Given the description of an element on the screen output the (x, y) to click on. 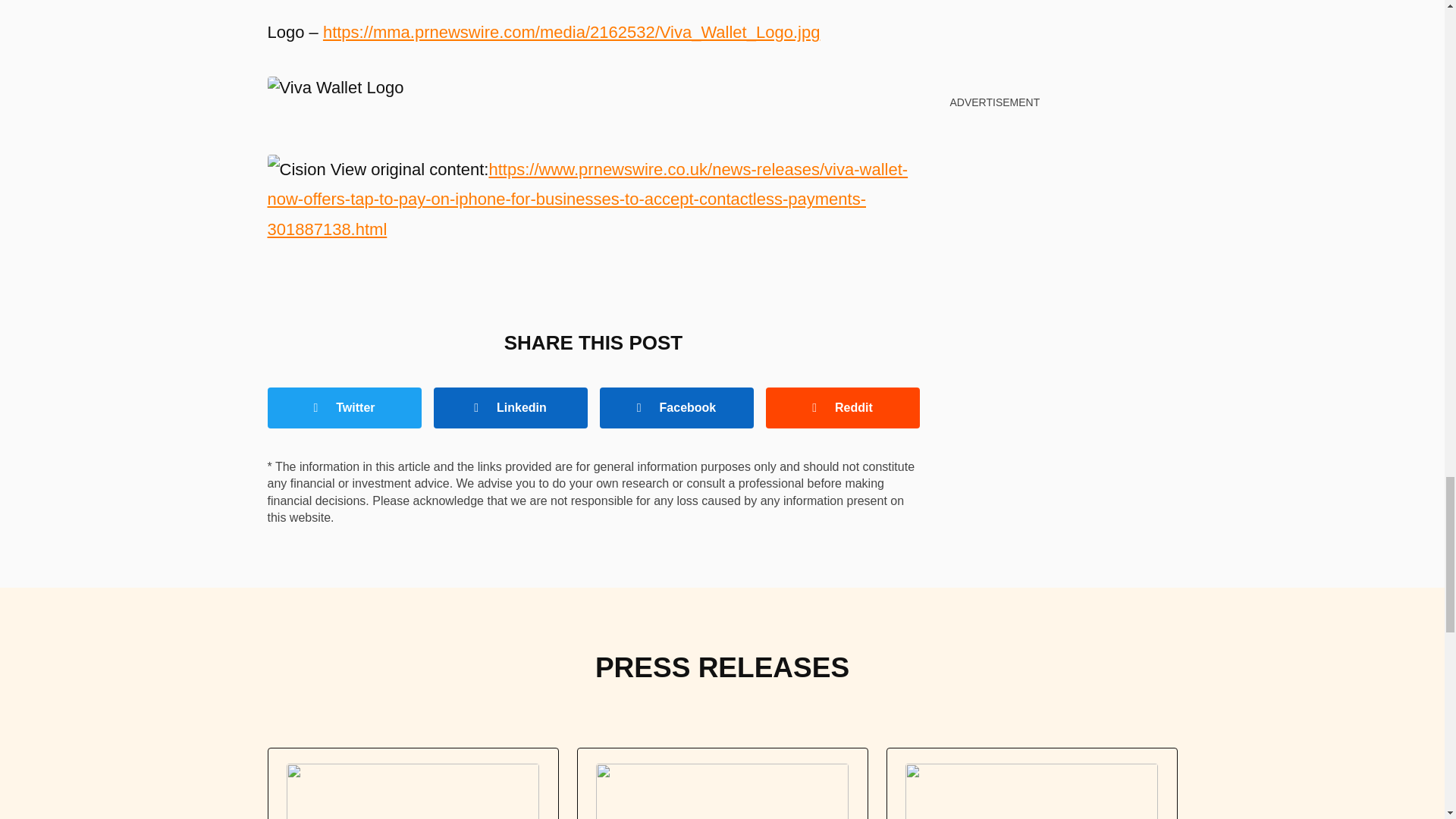
Facebook (675, 407)
Linkedin (510, 407)
Cision (295, 169)
Twitter (343, 407)
Viva Wallet Logo (334, 87)
Reddit (842, 407)
